Given the description of an element on the screen output the (x, y) to click on. 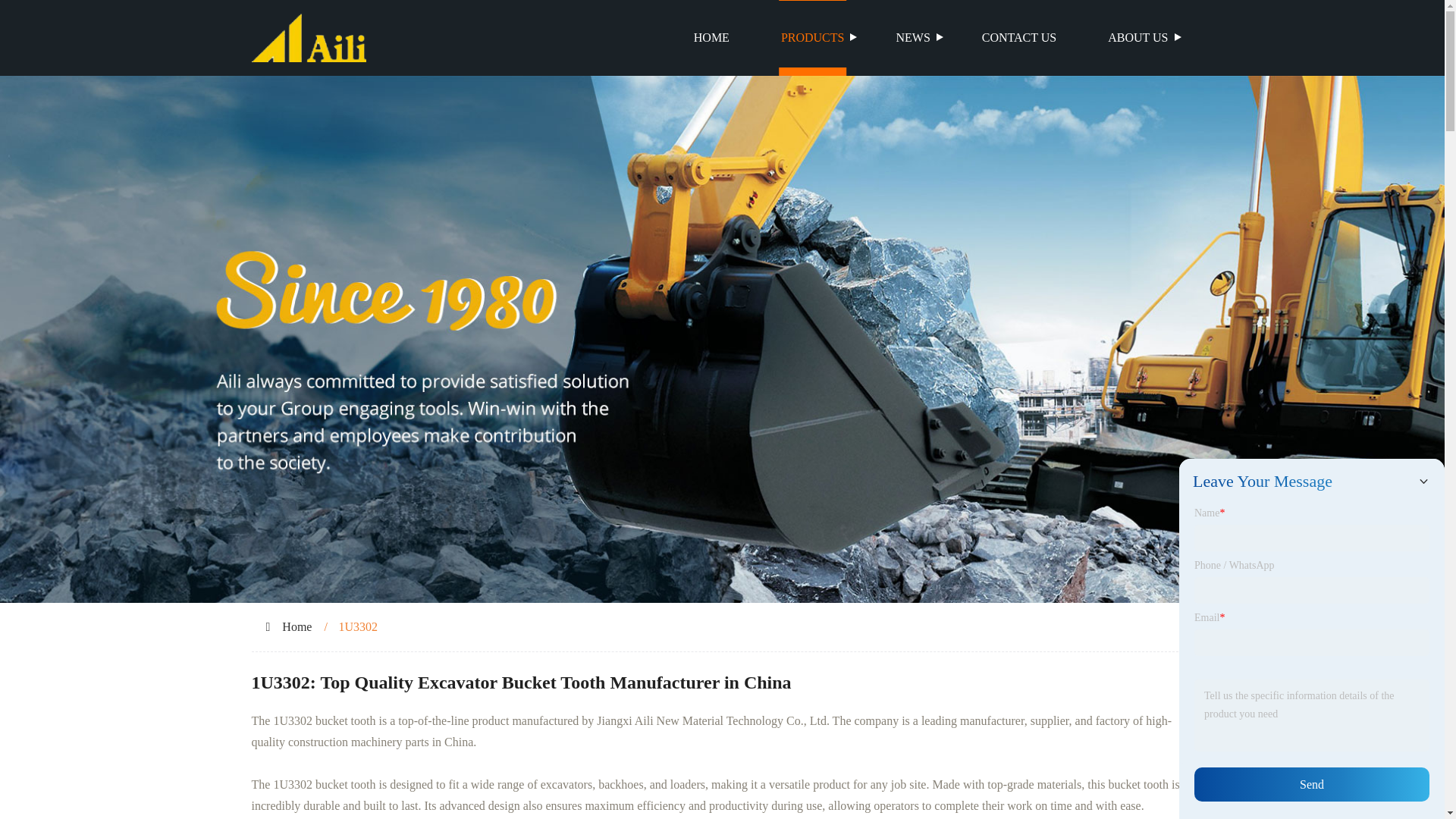
CONTACT US (1018, 38)
Home (296, 626)
PRODUCTS (812, 38)
